Given the description of an element on the screen output the (x, y) to click on. 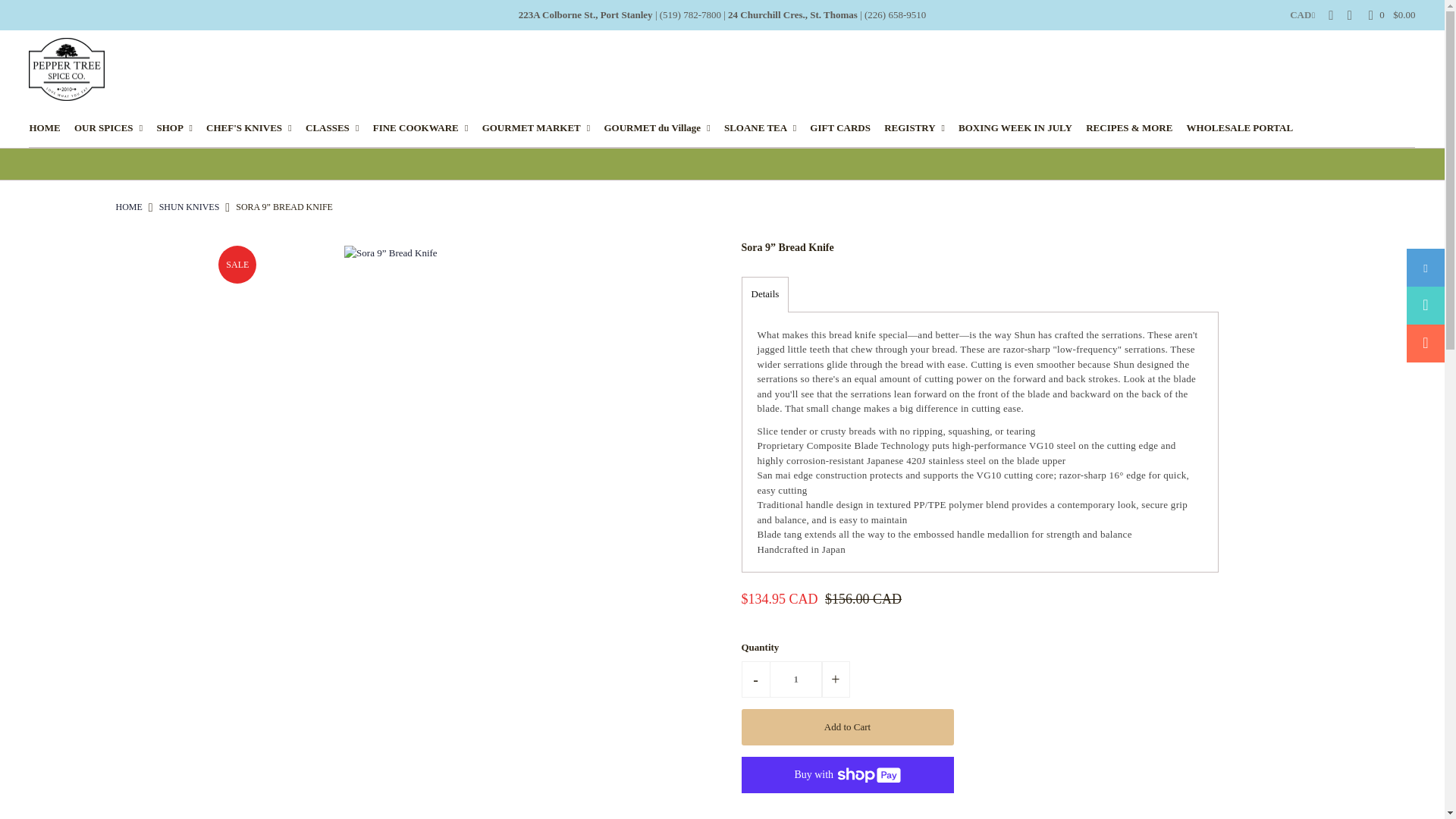
Shun Knives (188, 206)
OUR SPICES (114, 127)
SHOP (179, 127)
CHEF'S KNIVES (254, 127)
1 (796, 678)
HOME (50, 127)
Home (128, 206)
Add to Cart (847, 727)
